Given the description of an element on the screen output the (x, y) to click on. 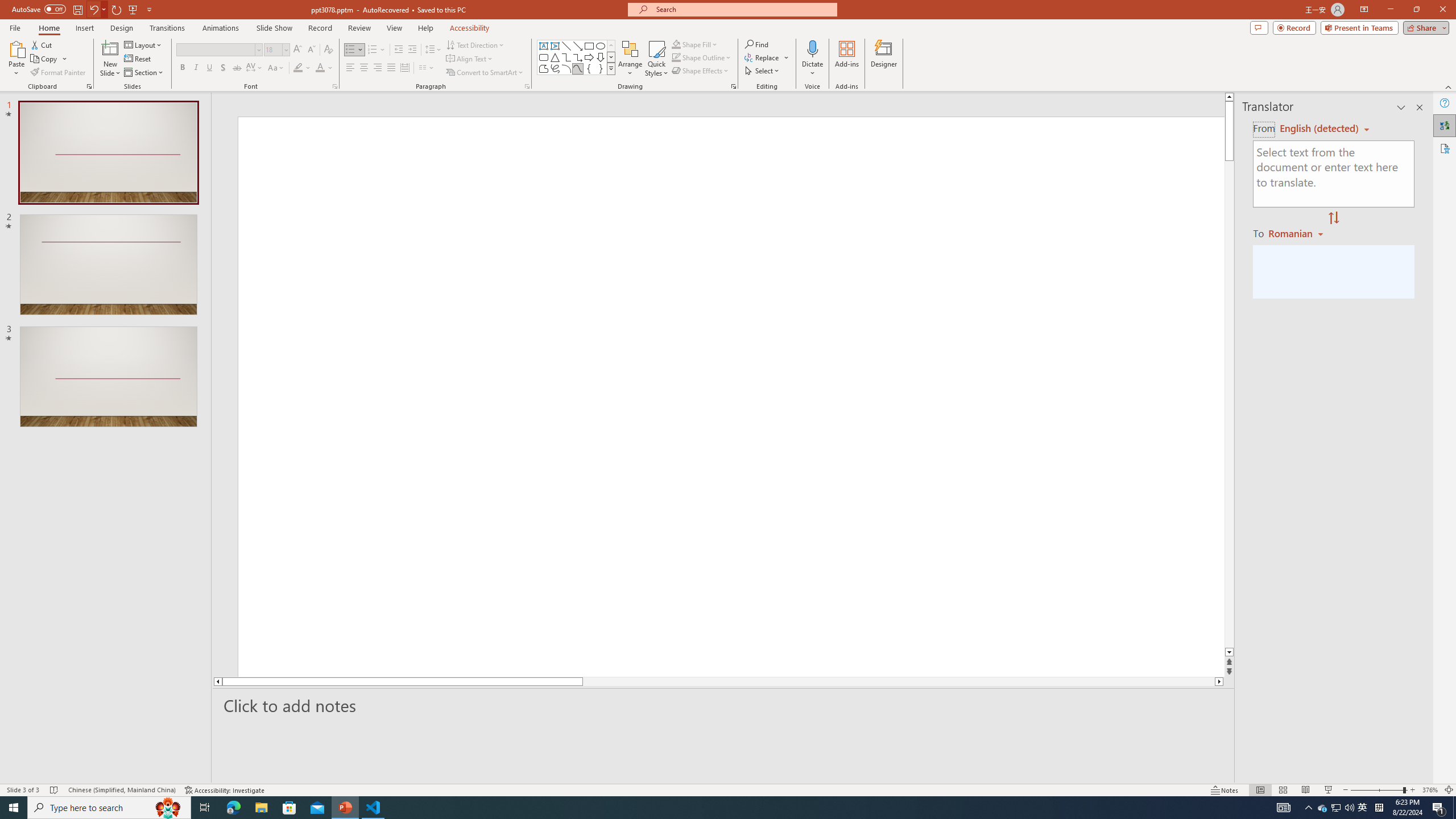
Zoom 376% (1430, 790)
